Given the description of an element on the screen output the (x, y) to click on. 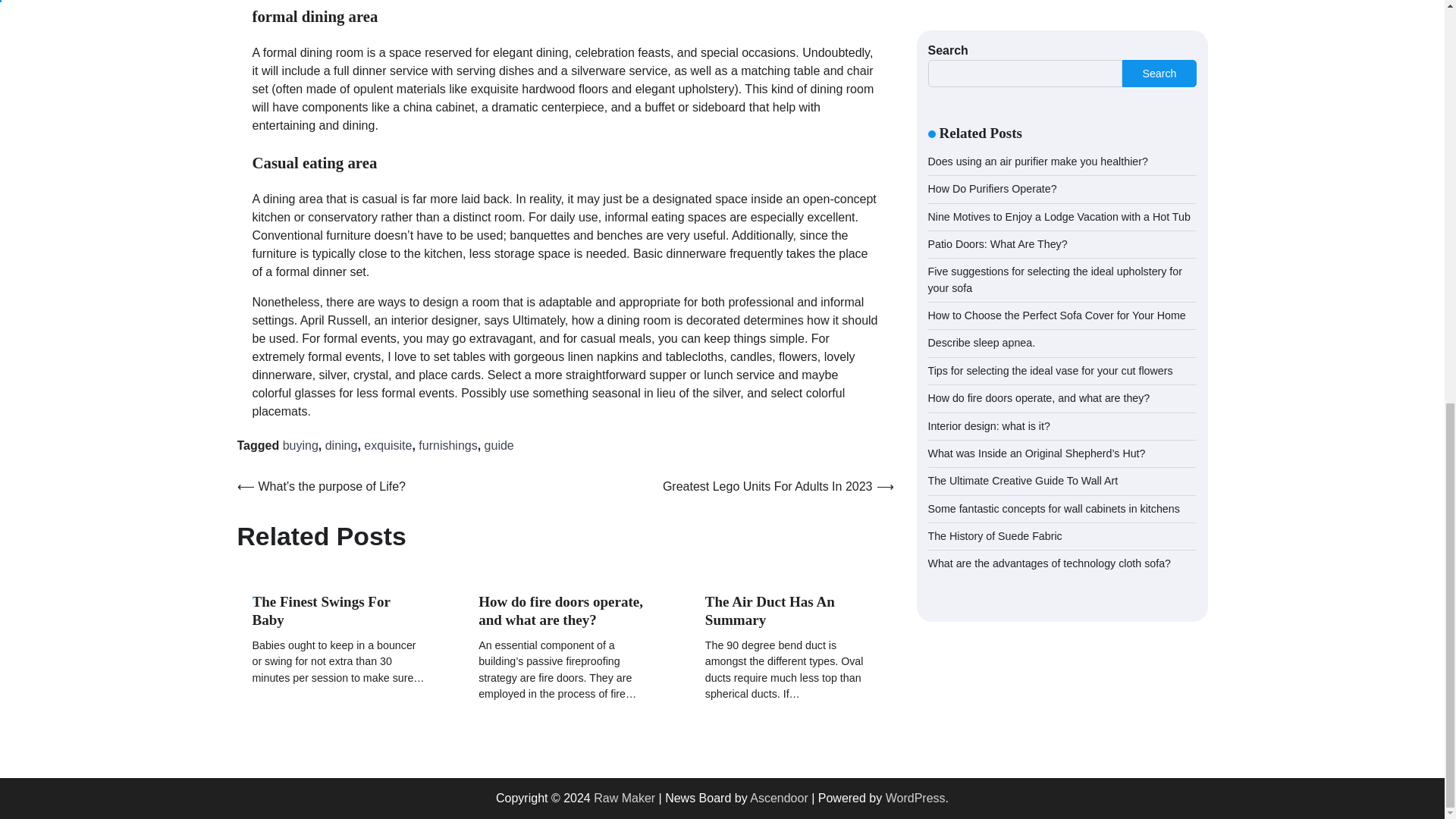
dining (341, 445)
exquisite (388, 445)
guide (498, 445)
WordPress (914, 797)
The Finest Swings For Baby (320, 610)
furnishings (448, 445)
How do fire doors operate, and what are they? (561, 610)
The Air Duct Has An Summary (769, 610)
buying (300, 445)
Ascendoor (778, 797)
